Given the description of an element on the screen output the (x, y) to click on. 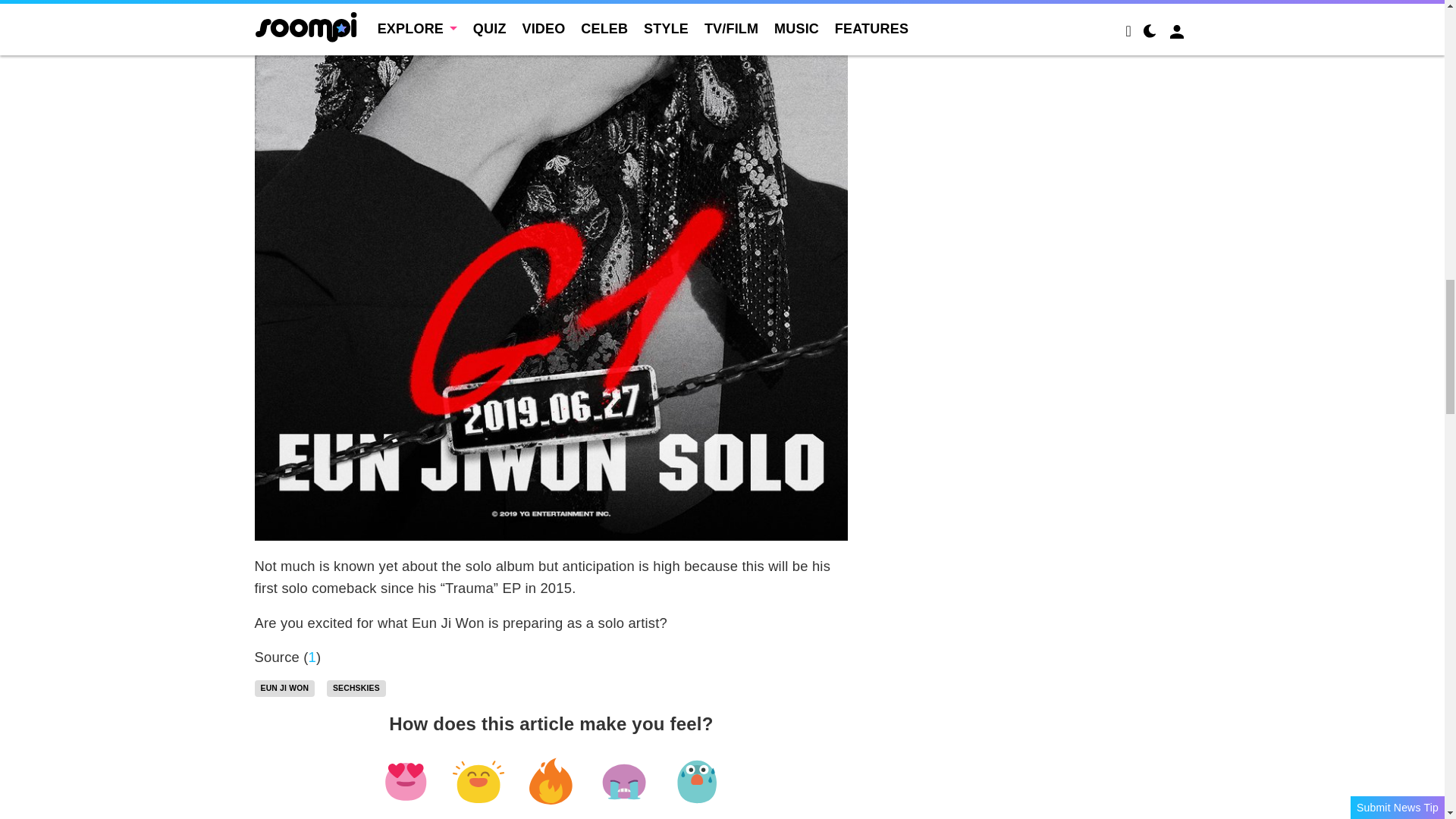
lol (478, 781)
EUN JI WON (284, 688)
fire (550, 781)
cry (623, 781)
LOL (478, 781)
SECHSKIES (355, 688)
Crying (623, 781)
OMG (696, 781)
1 (311, 657)
omg (696, 781)
heart (405, 781)
Fire (550, 781)
Heart (405, 781)
SECHSKIES (355, 688)
Eun Ji Won (284, 688)
